Given the description of an element on the screen output the (x, y) to click on. 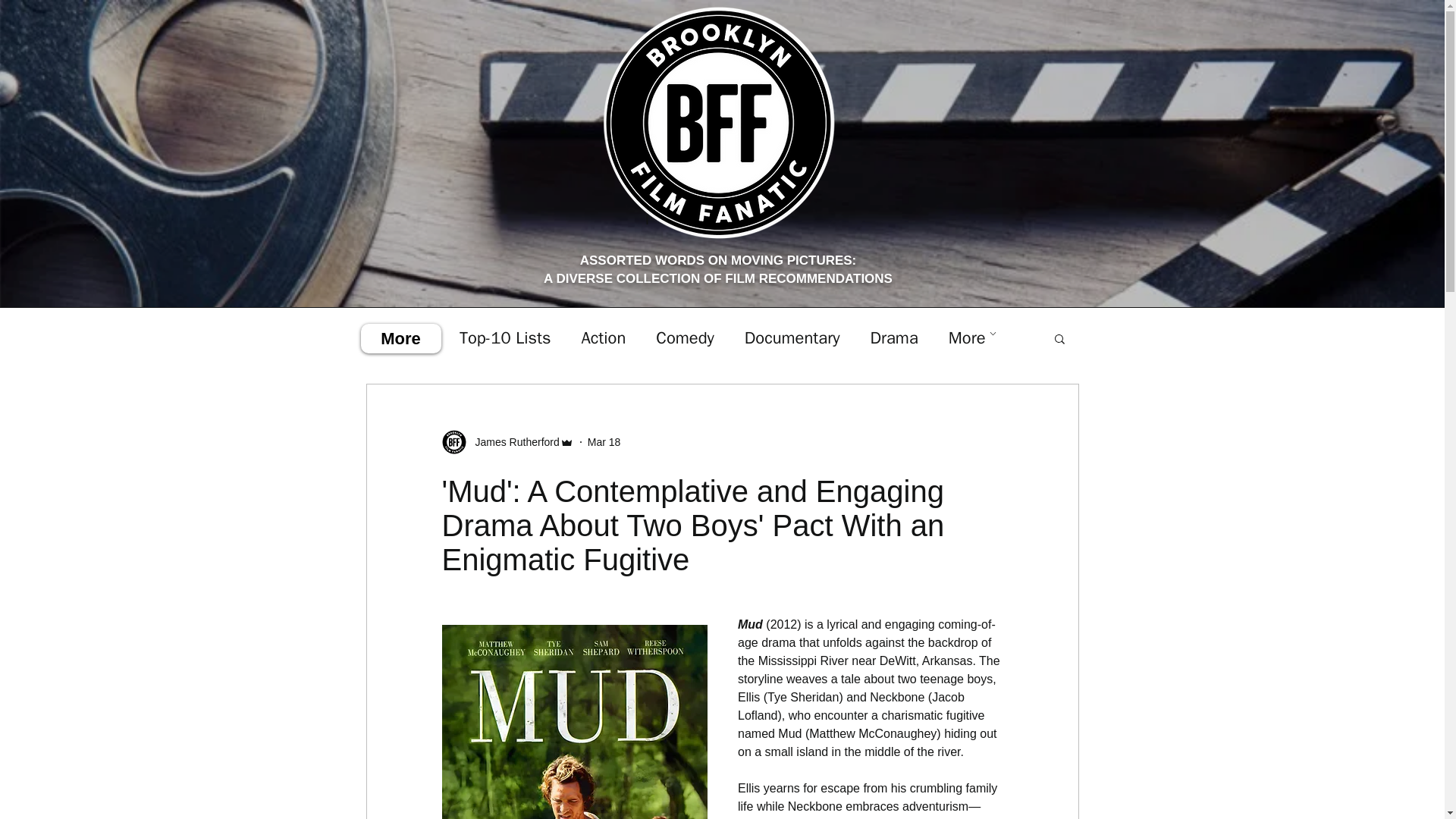
All Posts (397, 337)
Documentary (792, 337)
Drama (893, 337)
Top-10 Lists (505, 337)
Comedy (684, 337)
Mar 18 (604, 441)
James Rutherford (512, 442)
Action (603, 337)
